Given the description of an element on the screen output the (x, y) to click on. 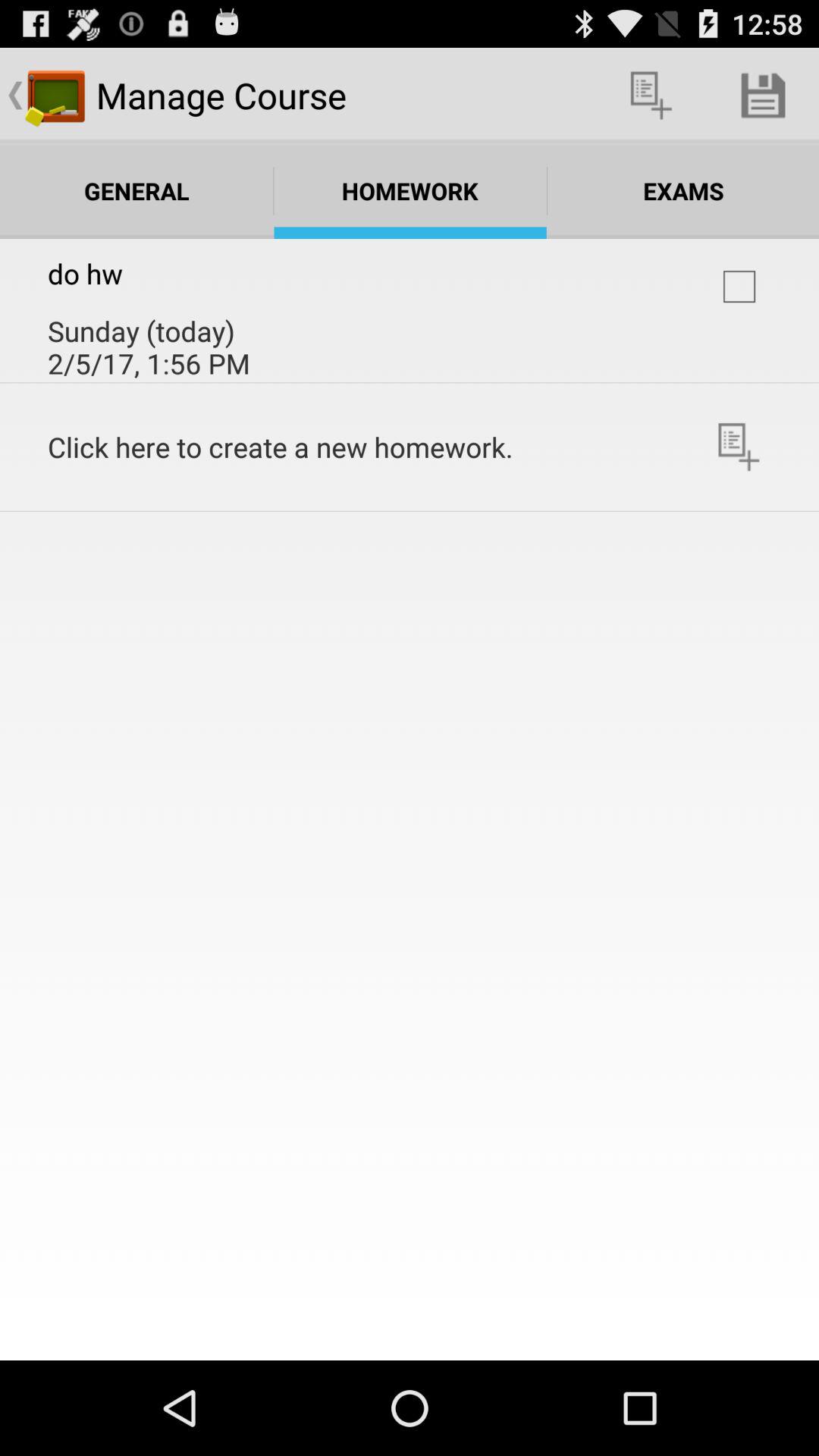
turn on the app next to manage course (651, 95)
